Given the description of an element on the screen output the (x, y) to click on. 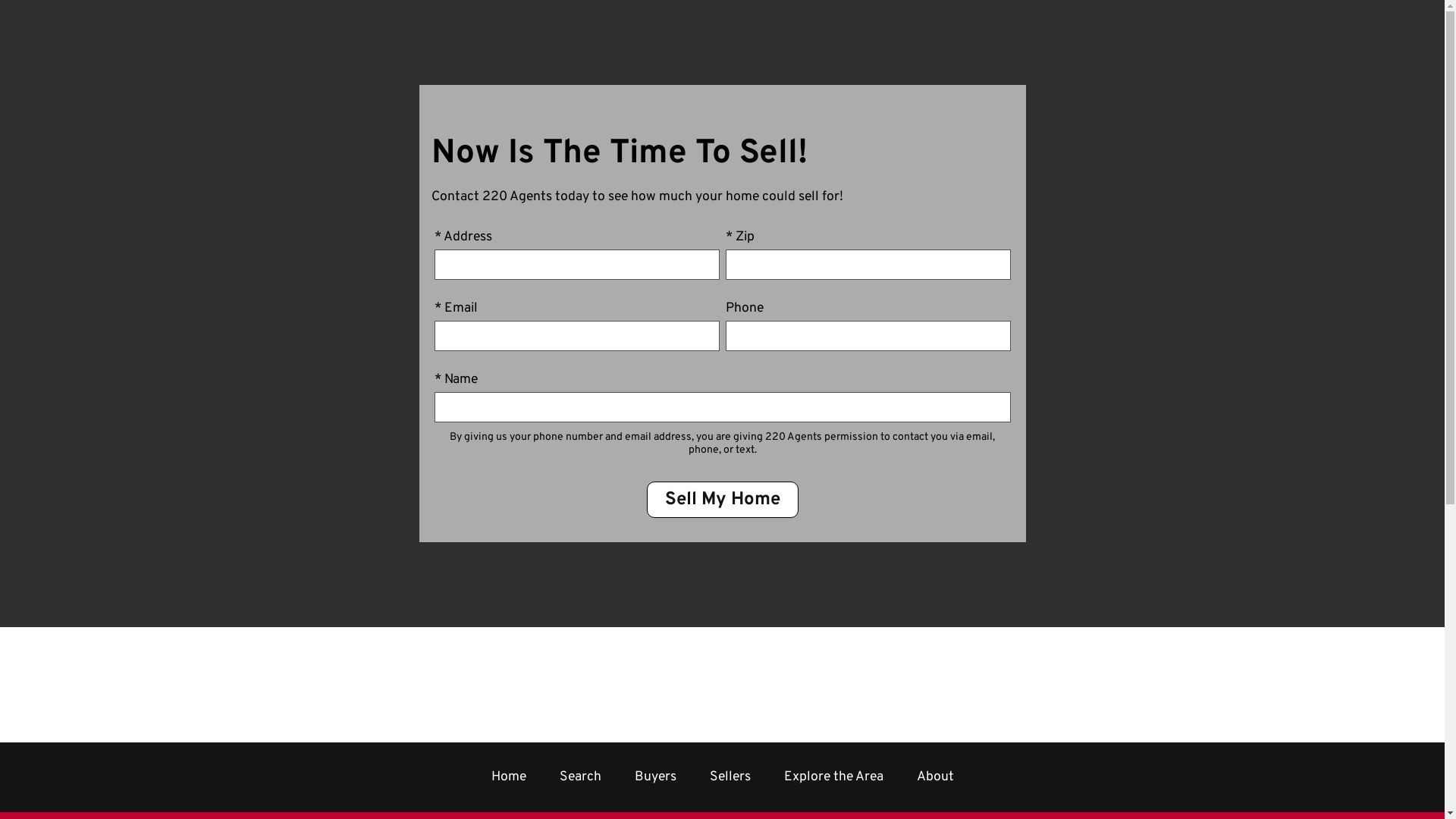
About Element type: text (934, 776)
Home Element type: text (508, 776)
Buyers Element type: text (654, 776)
Explore the Area Element type: text (833, 776)
Search Element type: text (580, 776)
Sellers Element type: text (729, 776)
Sell My Home Element type: text (721, 499)
